Given the description of an element on the screen output the (x, y) to click on. 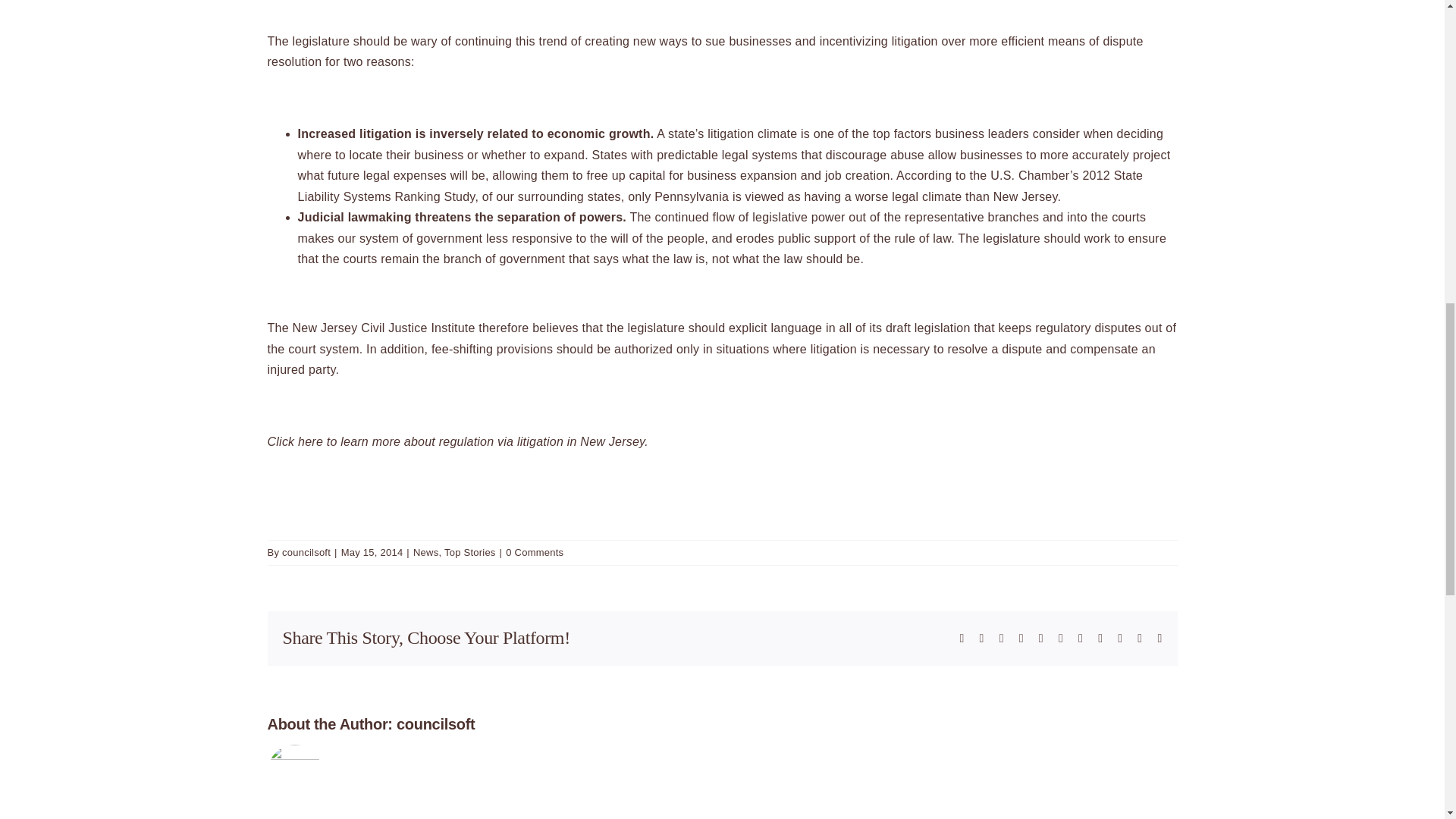
Xing (1139, 638)
News (425, 552)
councilsoft (306, 552)
Posts by councilsoft (306, 552)
X (981, 638)
Tumblr (1080, 638)
Vk (1120, 638)
Facebook (961, 638)
WhatsApp (1041, 638)
Reddit (1001, 638)
Top Stories (470, 552)
Telegram (1060, 638)
0 Comments (534, 552)
Pinterest (1099, 638)
